Given the description of an element on the screen output the (x, y) to click on. 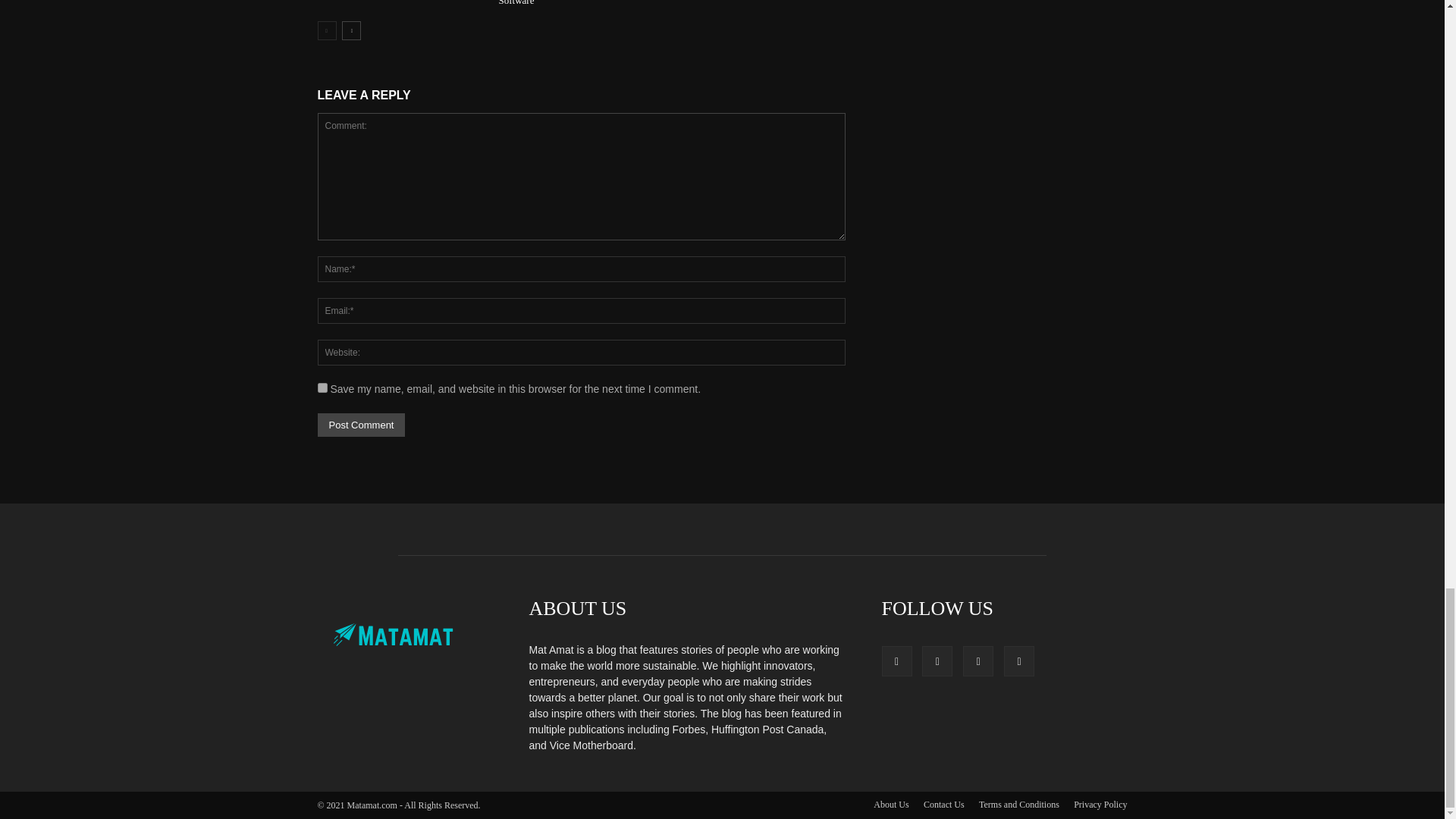
Post Comment (360, 424)
yes (321, 388)
